Given the description of an element on the screen output the (x, y) to click on. 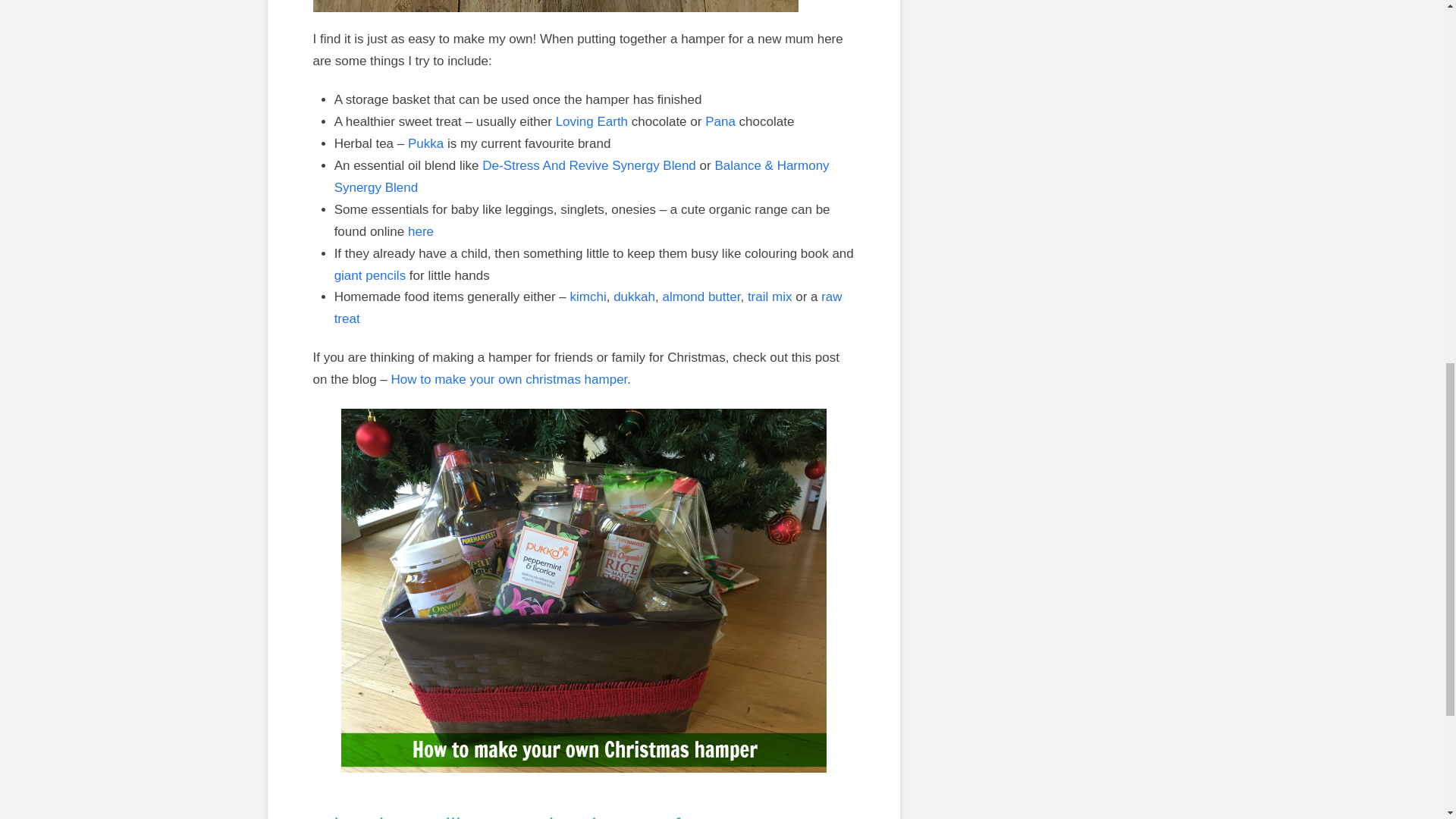
almond butter (700, 296)
Pukka (425, 143)
Pana (719, 121)
dukkah (633, 296)
raw treat (588, 307)
here (420, 231)
How to make your own christmas hamper (509, 379)
De-Stress And Revive Synergy Blend (588, 165)
trail mix (770, 296)
kimchi (588, 296)
Loving Earth (591, 121)
giant pencils (370, 275)
